Given the description of an element on the screen output the (x, y) to click on. 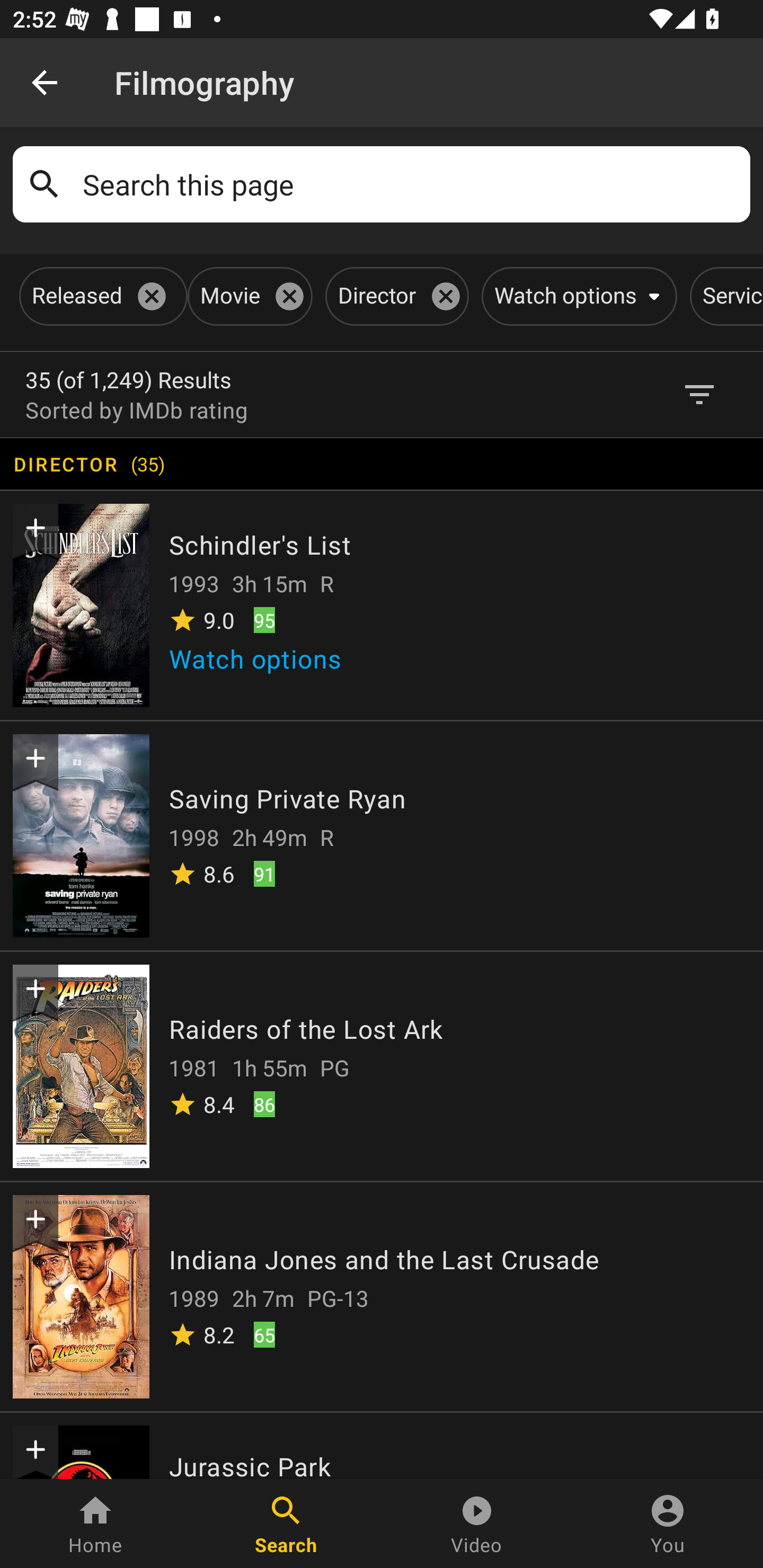
Search this page (410, 184)
Released (100, 296)
Movie (246, 296)
Director (393, 296)
Watch options (575, 296)
Services (726, 296)
Watch options (261, 664)
Saving Private Ryan 1998 2h 49m R 8.6 91 (381, 834)
Raiders of the Lost Ark 1981 1h 55m PG 8.4 86 (381, 1065)
Home (95, 1523)
Video (476, 1523)
You (667, 1523)
